Given the description of an element on the screen output the (x, y) to click on. 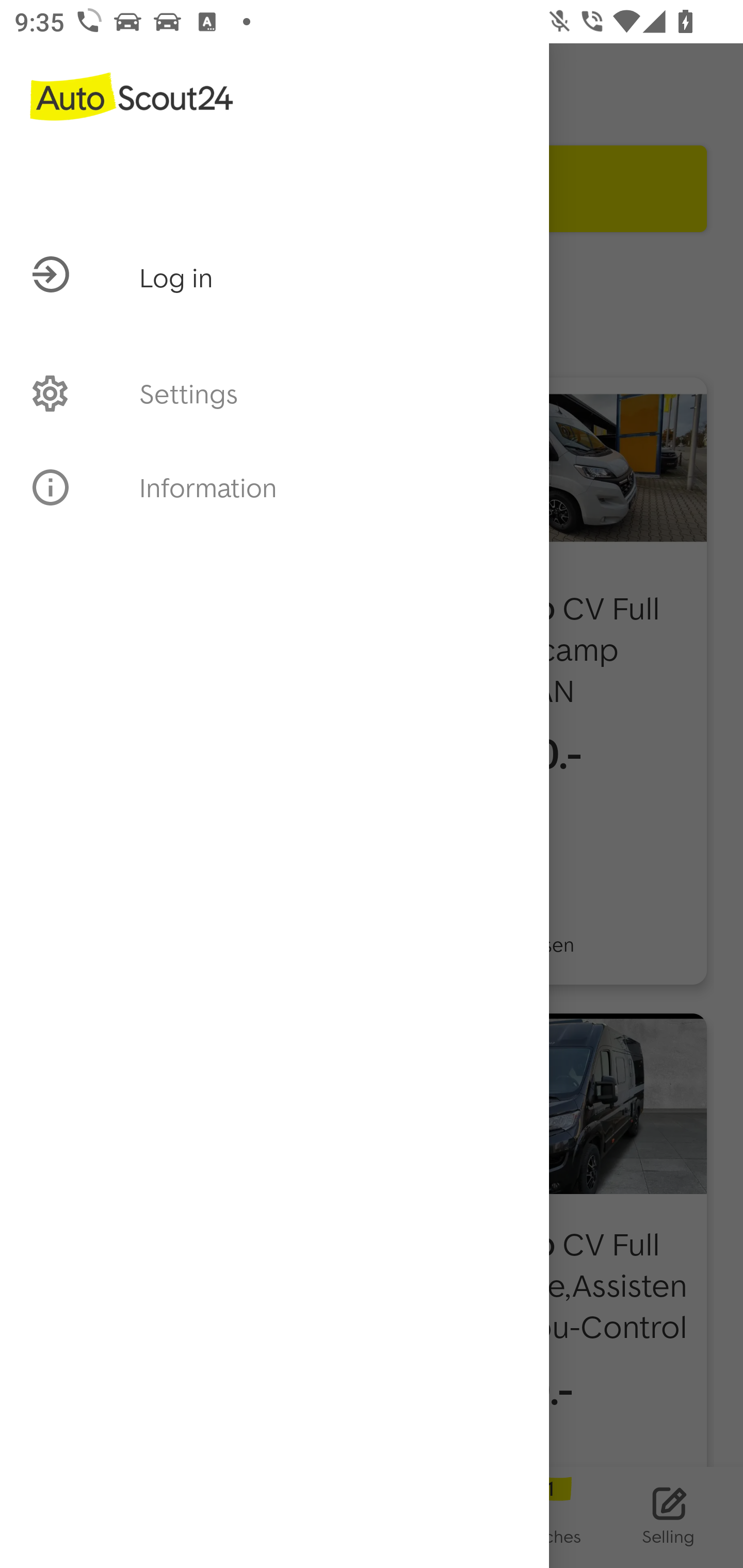
PROFILE Settings (274, 393)
INFO Information (274, 487)
